Given the description of an element on the screen output the (x, y) to click on. 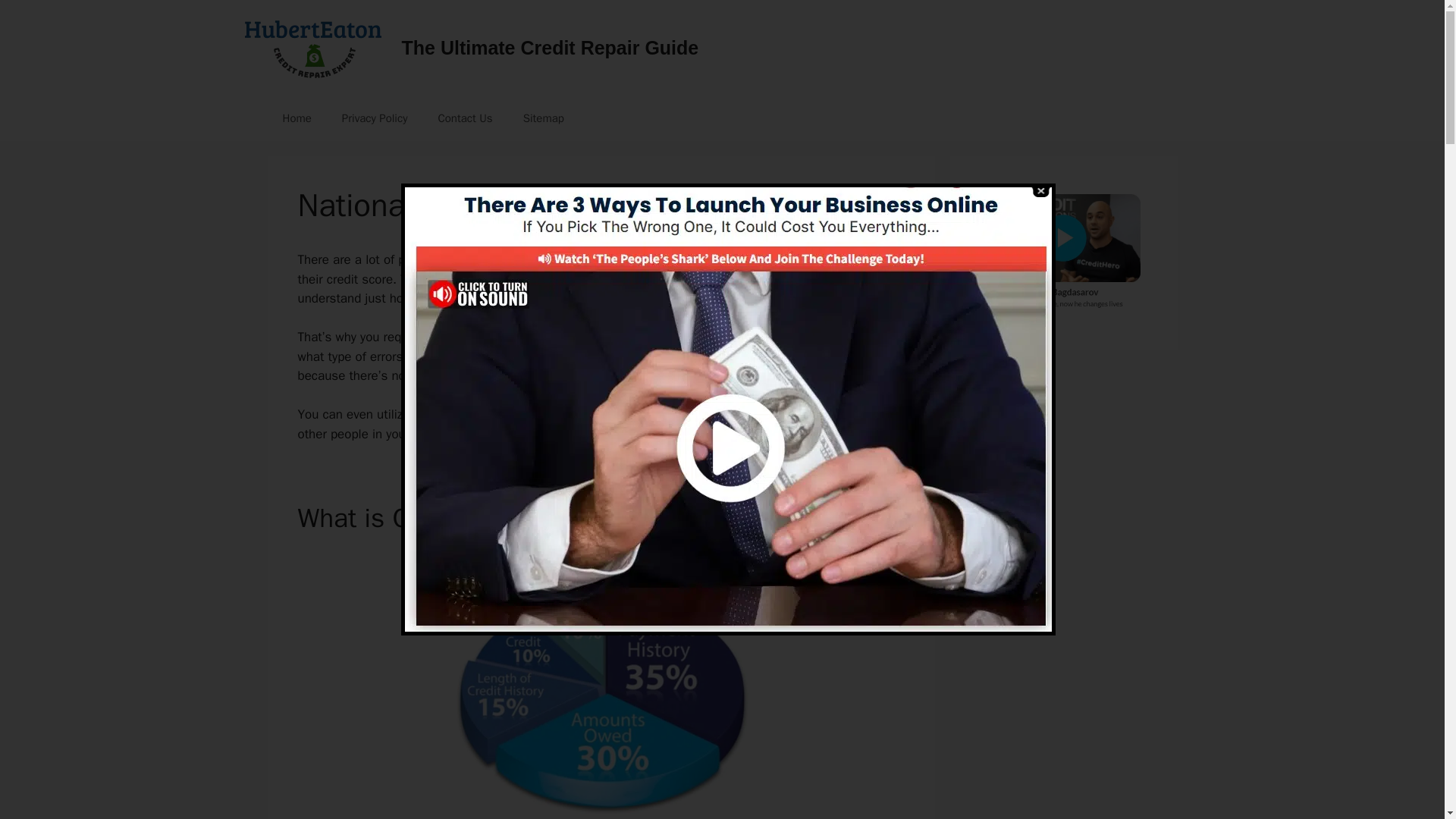
The Ultimate Credit Repair Guide (549, 47)
Close (1039, 191)
Home (296, 117)
your own credit repair organization (723, 414)
Privacy Policy (374, 117)
Sitemap (543, 117)
Contact Us (464, 117)
